Given the description of an element on the screen output the (x, y) to click on. 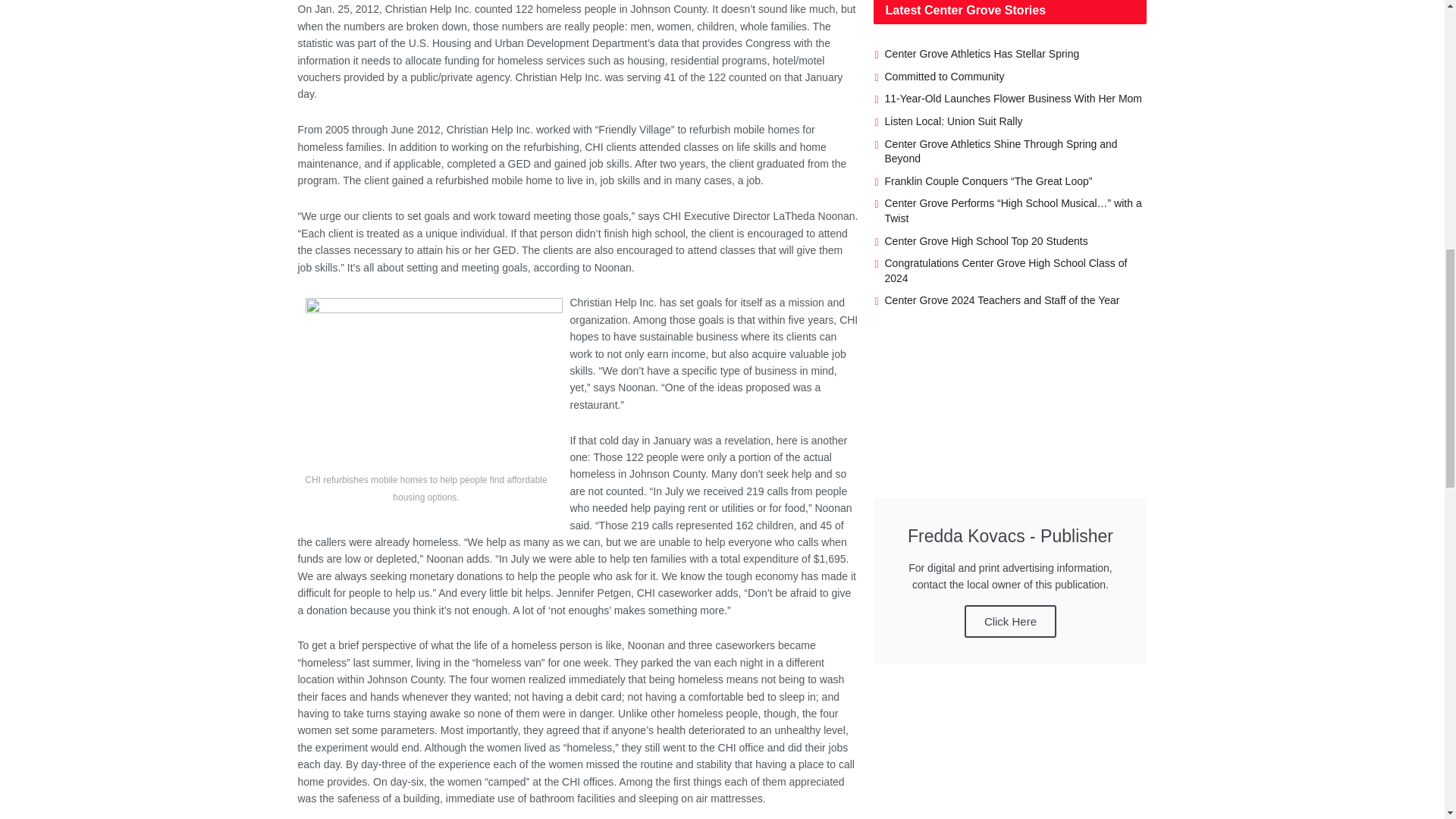
CHI-Mobile Home (433, 383)
